Given the description of an element on the screen output the (x, y) to click on. 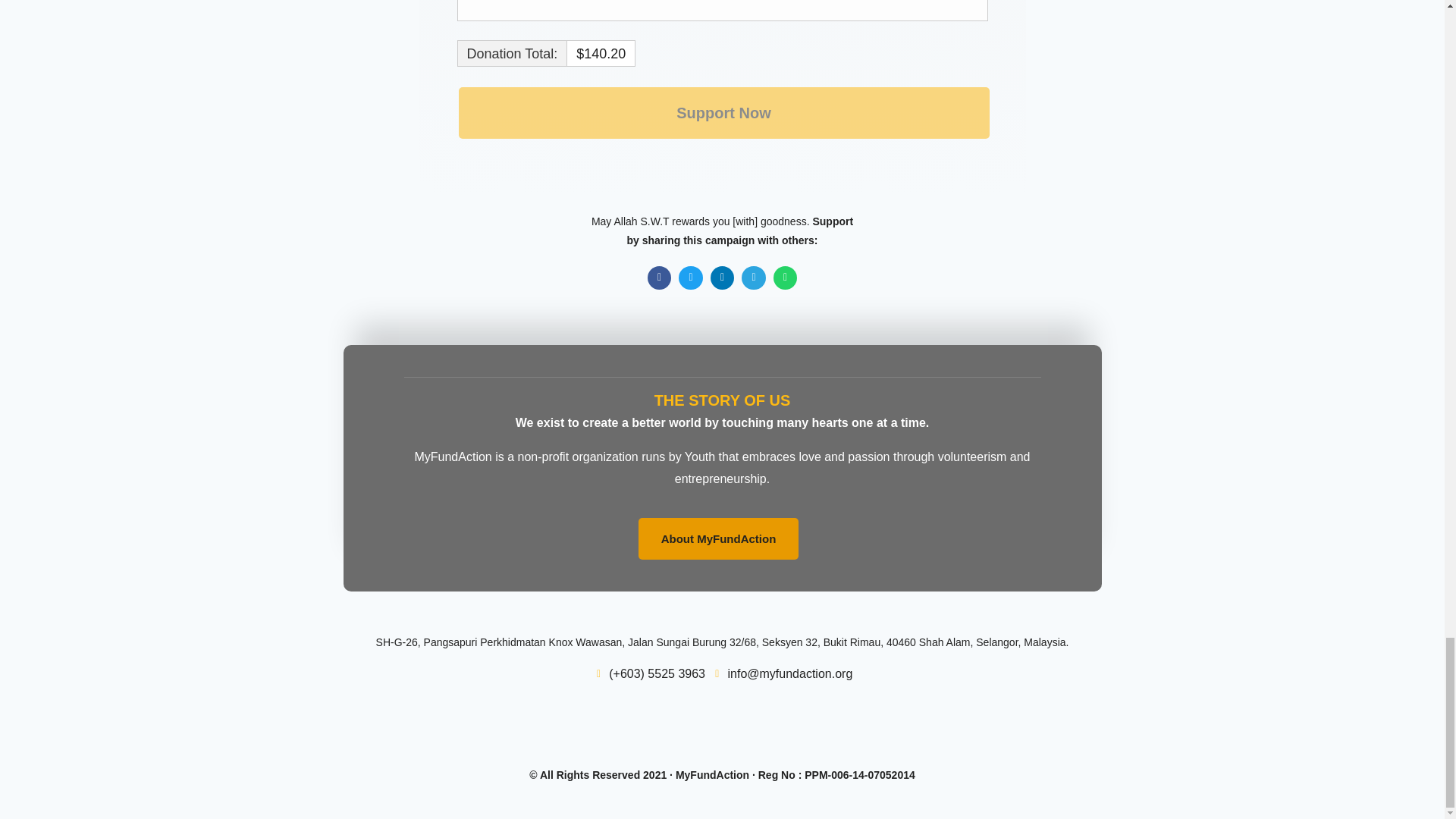
About MyFundAction (719, 538)
Support Now (723, 112)
Support Now (723, 112)
